Given the description of an element on the screen output the (x, y) to click on. 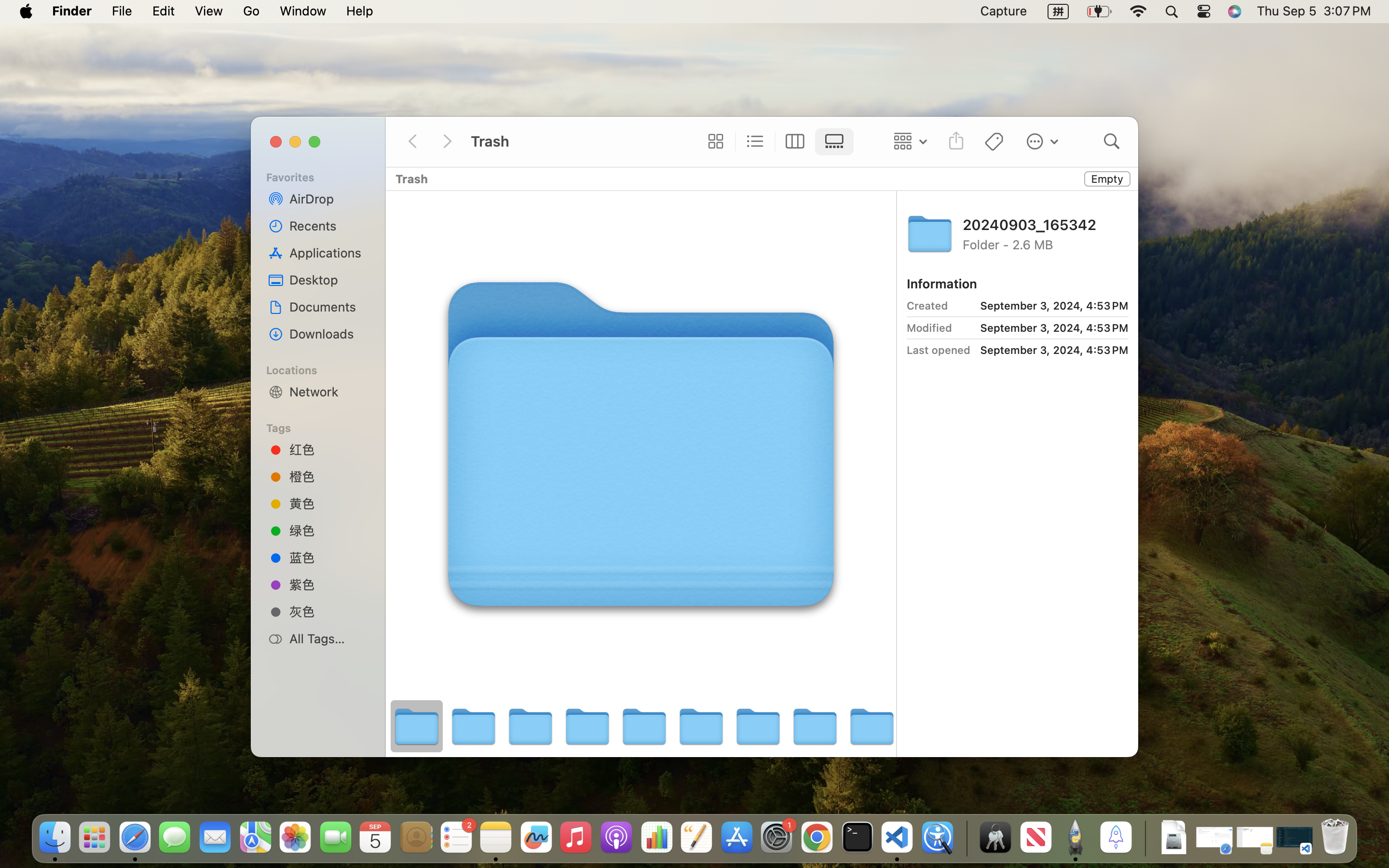
September 3, 2024, 4:53 PM Element type: AXStaticText (1041, 305)
Network Element type: AXStaticText (328, 391)
AirDrop Element type: AXStaticText (328, 198)
Folder - 2.6 MB Element type: AXStaticText (1045, 243)
